Given the description of an element on the screen output the (x, y) to click on. 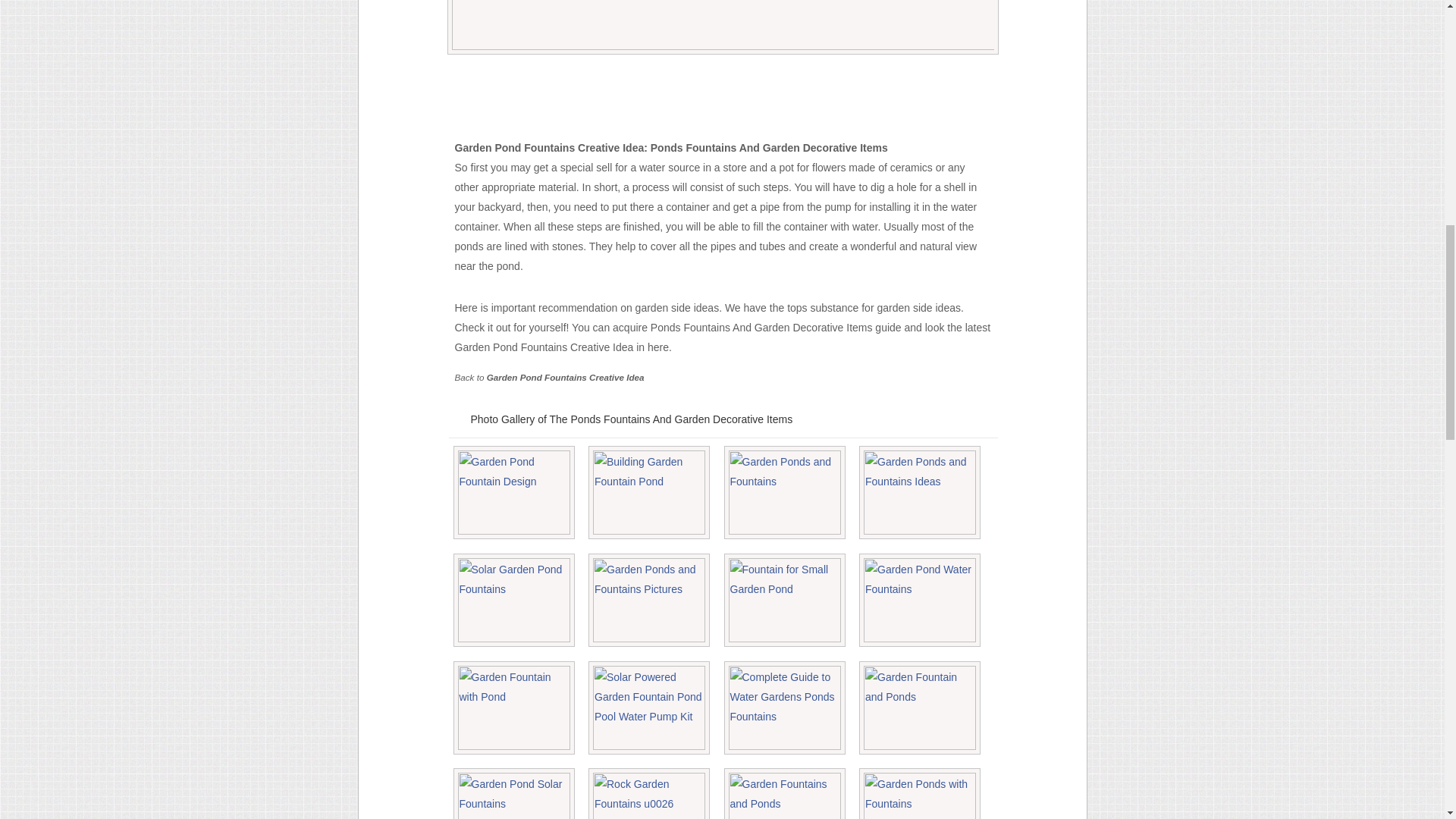
here (657, 346)
Return to Garden Pond Fountains Creative Idea (565, 377)
Garden Pond Fountains Creative Idea (565, 377)
